Given the description of an element on the screen output the (x, y) to click on. 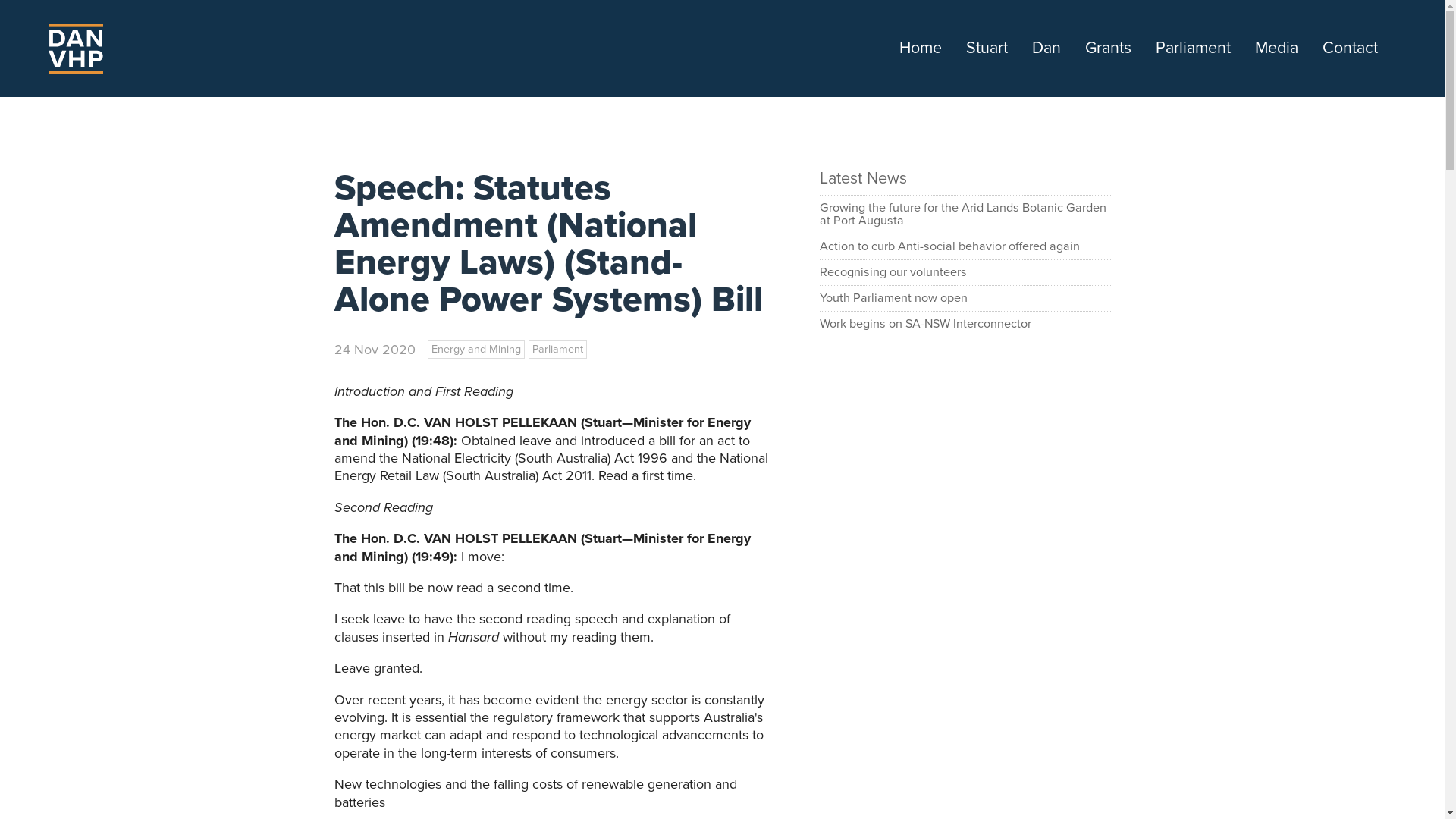
Energy and Mining Element type: text (475, 348)
Home Element type: text (920, 47)
Work begins on SA-NSW Interconnector Element type: text (964, 323)
Grants Element type: text (1108, 47)
Recognising our volunteers Element type: text (964, 272)
Youth Parliament now open Element type: text (964, 297)
Dan Element type: text (1046, 47)
Parliament Element type: text (1192, 47)
Media Element type: text (1276, 47)
Stuart Element type: text (986, 47)
Action to curb Anti-social behavior offered again Element type: text (964, 246)
Parliament Element type: text (556, 348)
Contact Element type: text (1350, 47)
